Given the description of an element on the screen output the (x, y) to click on. 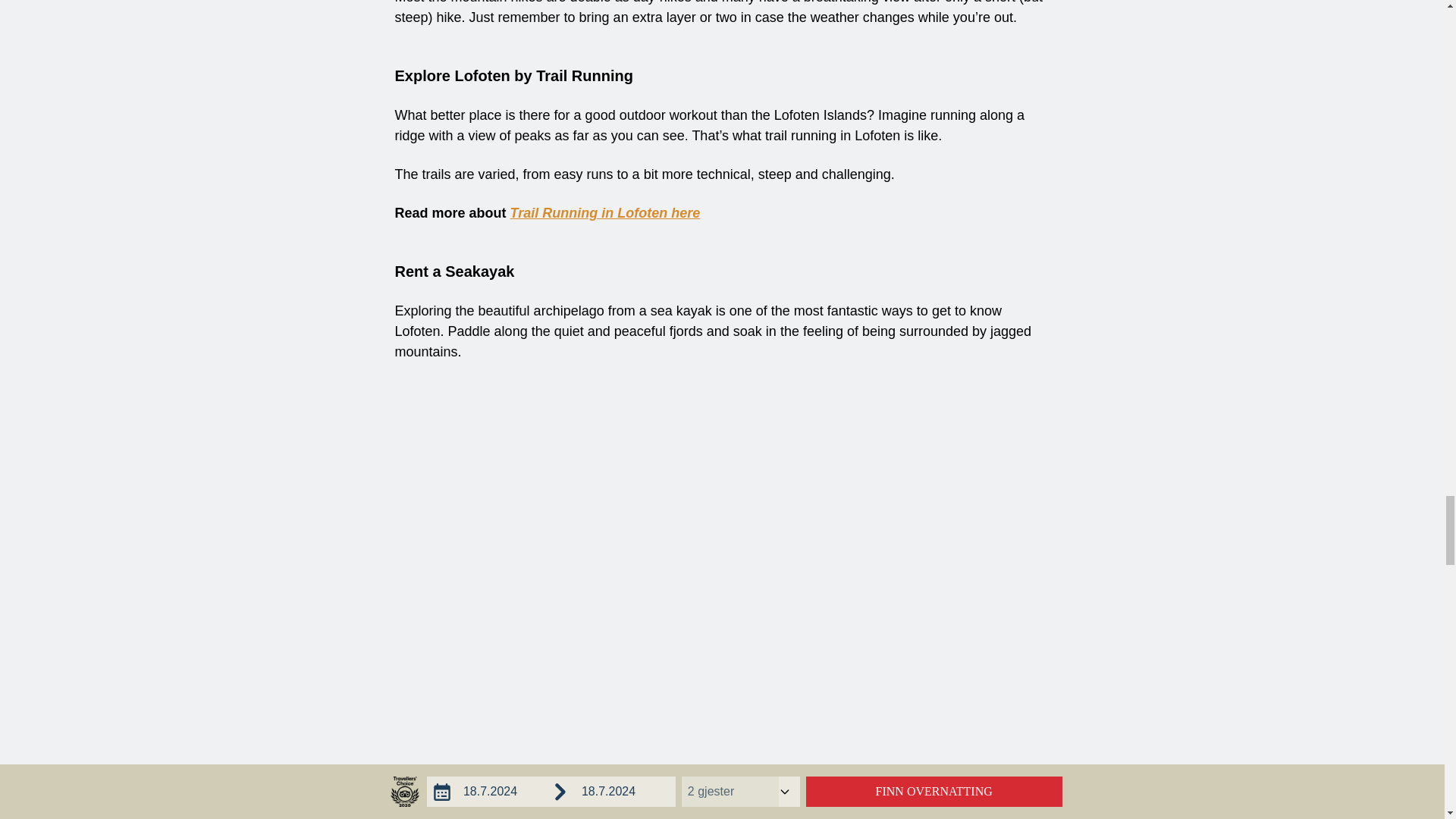
Trail Running in Lofoten here (605, 212)
